Given the description of an element on the screen output the (x, y) to click on. 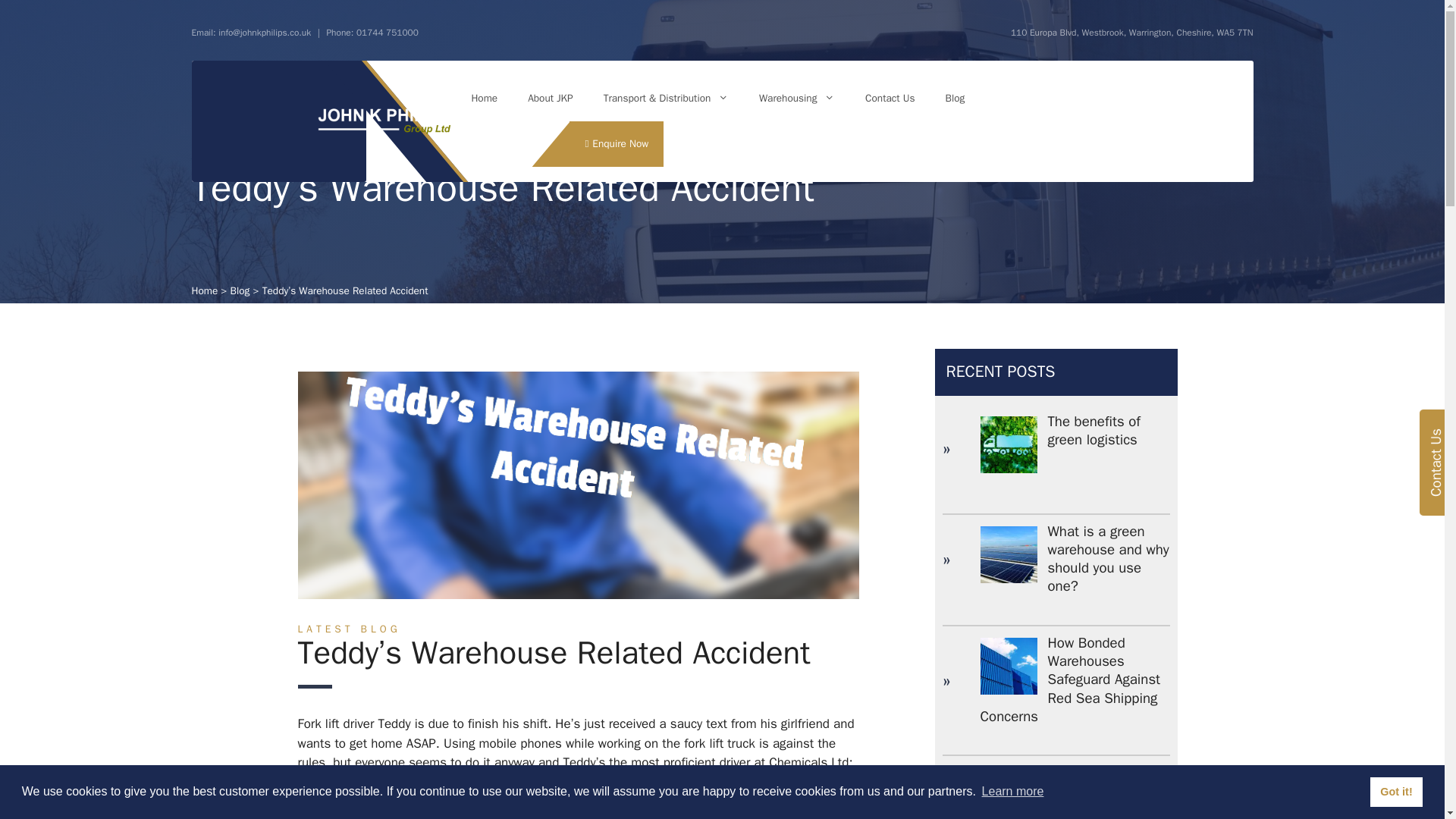
Warehousing (797, 98)
Learn more (1011, 791)
What is a green warehouse and why should you use one? (1108, 559)
Home (203, 290)
John K Philips (384, 119)
Home (483, 98)
Blog (954, 98)
John K Philips (384, 121)
Blog (240, 290)
Contact Us (890, 98)
01744 751000 (387, 32)
About JKP (550, 98)
Got it! (1396, 791)
The benefits of green logistics (1094, 430)
